Given the description of an element on the screen output the (x, y) to click on. 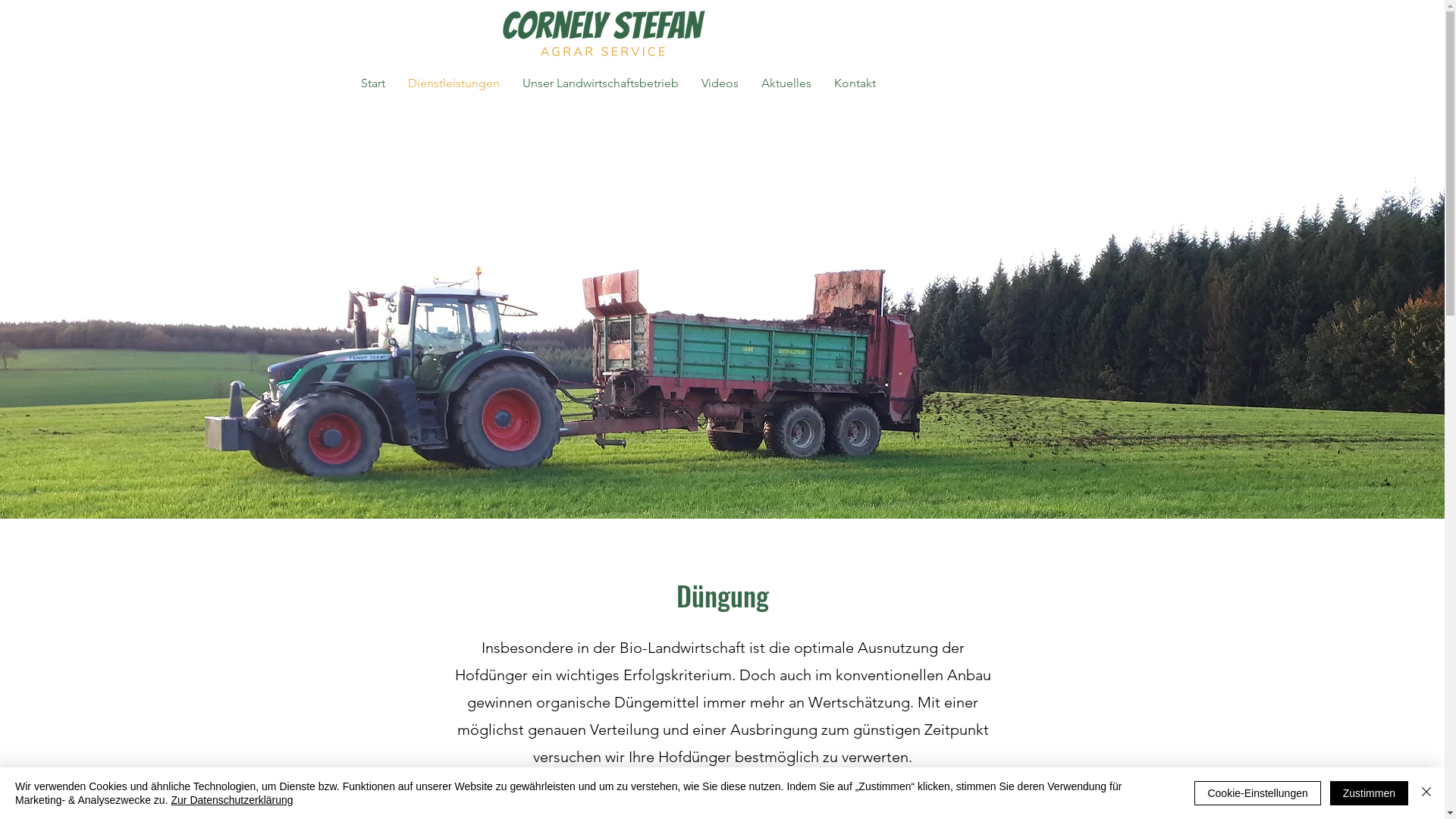
Aktuelles Element type: text (785, 82)
Kontakt Element type: text (854, 82)
Videos Element type: text (719, 82)
Start Element type: text (372, 82)
Zustimmen Element type: text (1369, 793)
Cookie-Einstellungen Element type: text (1257, 793)
Dienstleistungen Element type: text (453, 82)
Unser Landwirtschaftsbetrieb Element type: text (600, 82)
